Given the description of an element on the screen output the (x, y) to click on. 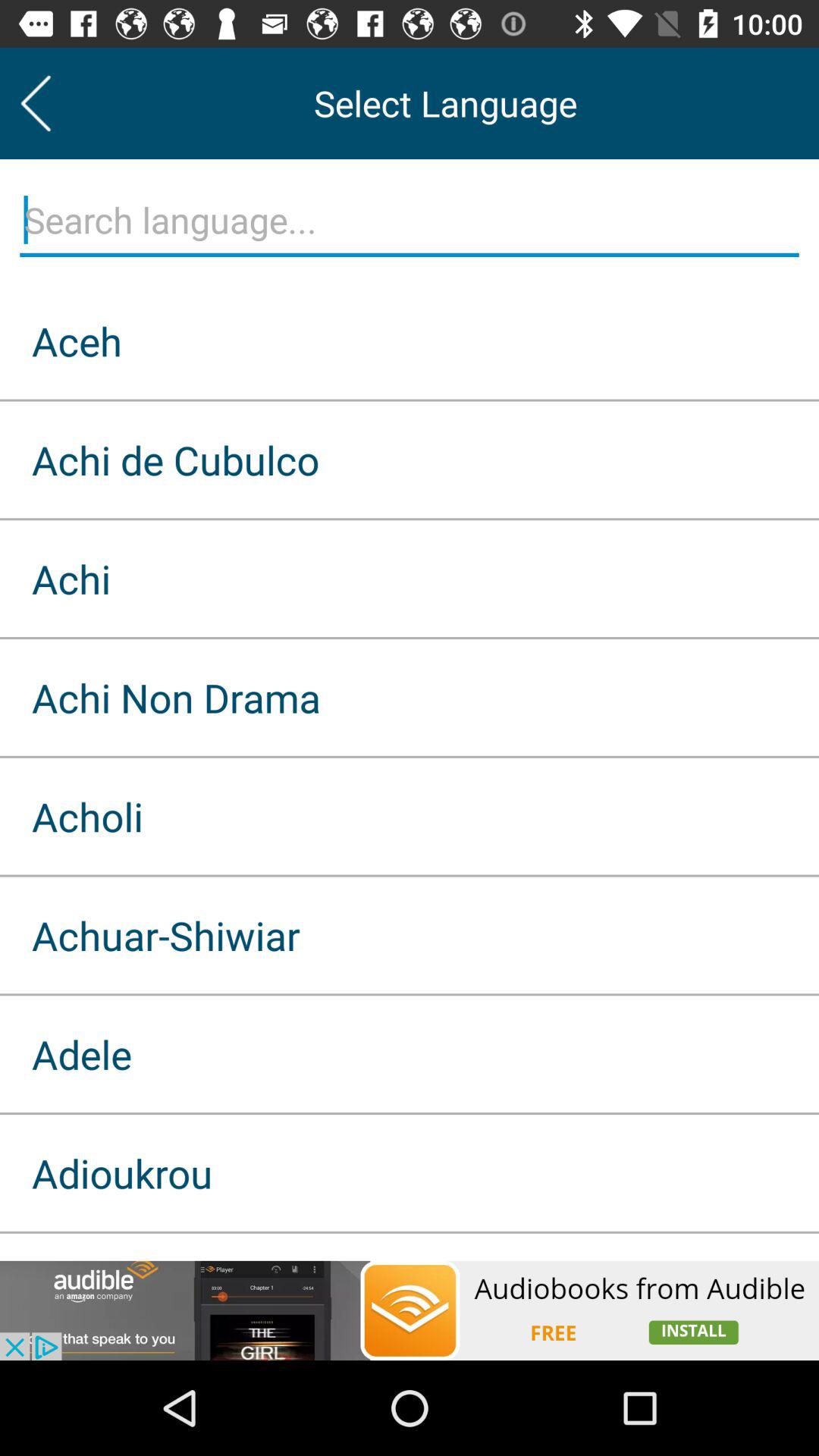
back option (35, 103)
